Given the description of an element on the screen output the (x, y) to click on. 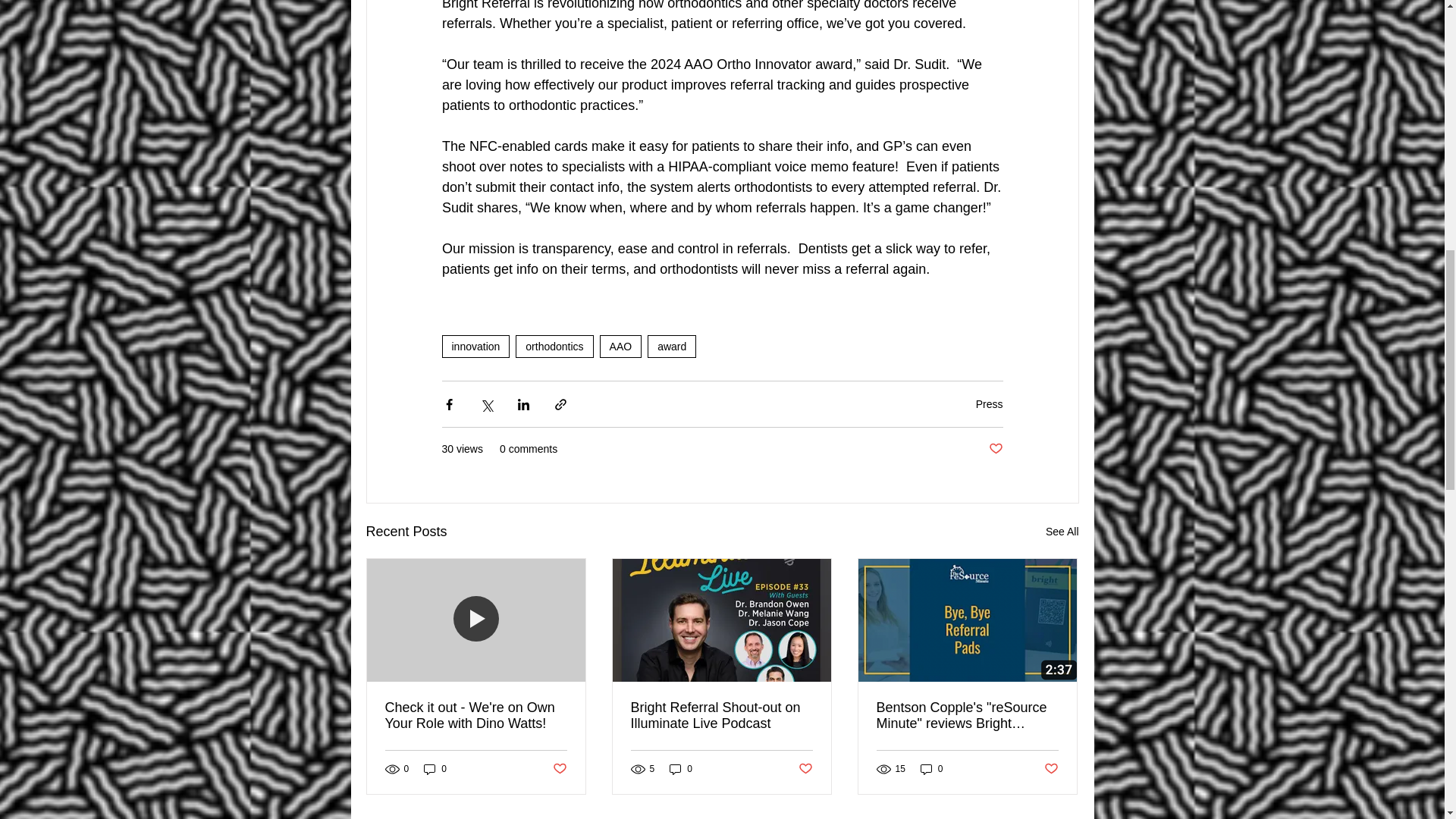
0 (435, 769)
Post not marked as liked (558, 769)
Post not marked as liked (995, 449)
Press (989, 404)
award (671, 345)
Bright Referral Shout-out on Illuminate Live Podcast (721, 716)
orthodontics (553, 345)
Post not marked as liked (1050, 769)
Check it out - We're on Own Your Role with Dino Watts! (476, 716)
Post not marked as liked (804, 769)
